Given the description of an element on the screen output the (x, y) to click on. 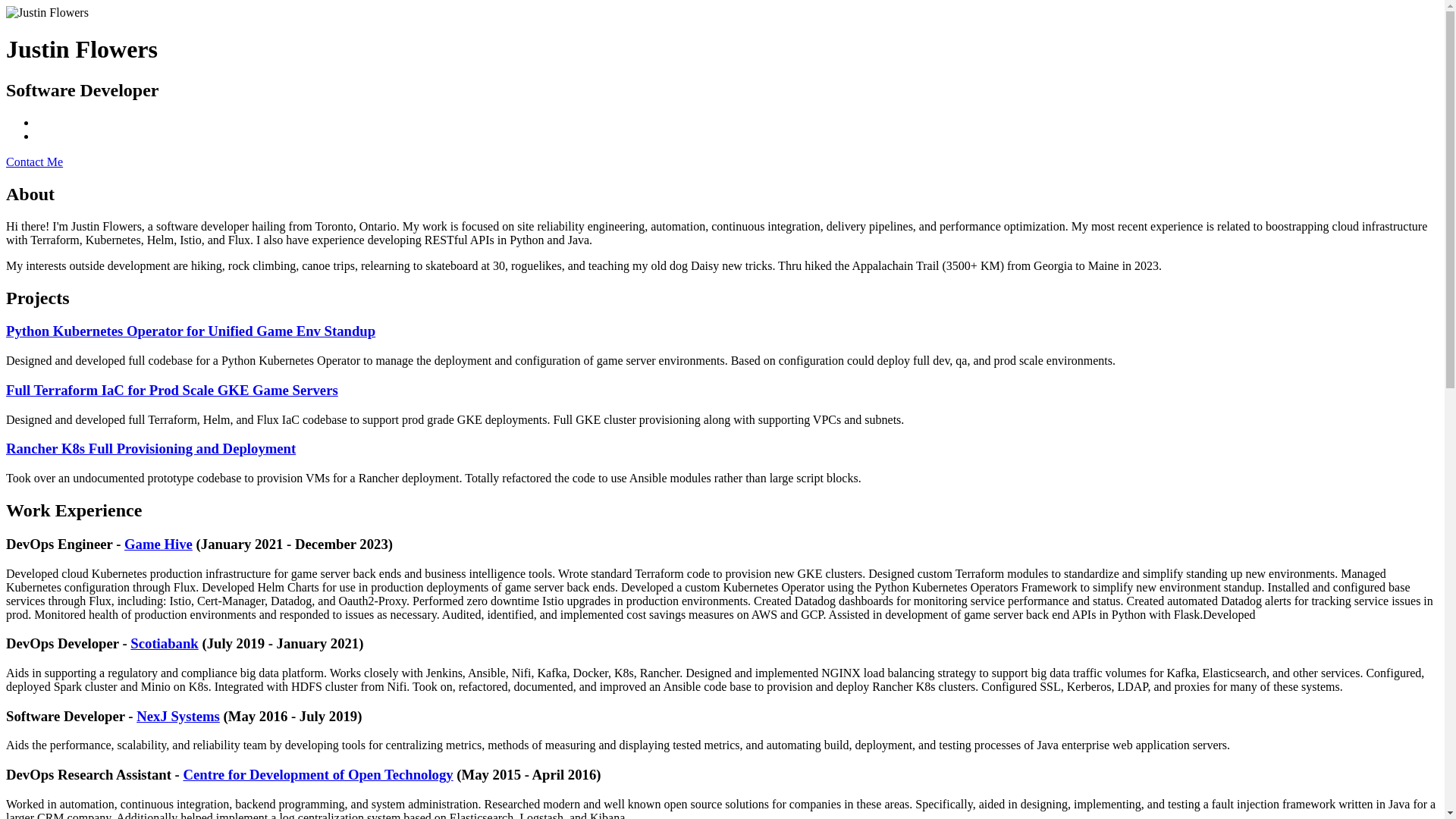
Rancher K8s Full Provisioning and Deployment (150, 448)
Centre for Development of Open Technology (317, 774)
Game Hive (157, 544)
Contact Me (33, 161)
NexJ Systems (177, 715)
Python Kubernetes Operator for Unified Game Env Standup (190, 330)
Scotiabank (164, 643)
Full Terraform IaC for Prod Scale GKE Game Servers (171, 390)
